Given the description of an element on the screen output the (x, y) to click on. 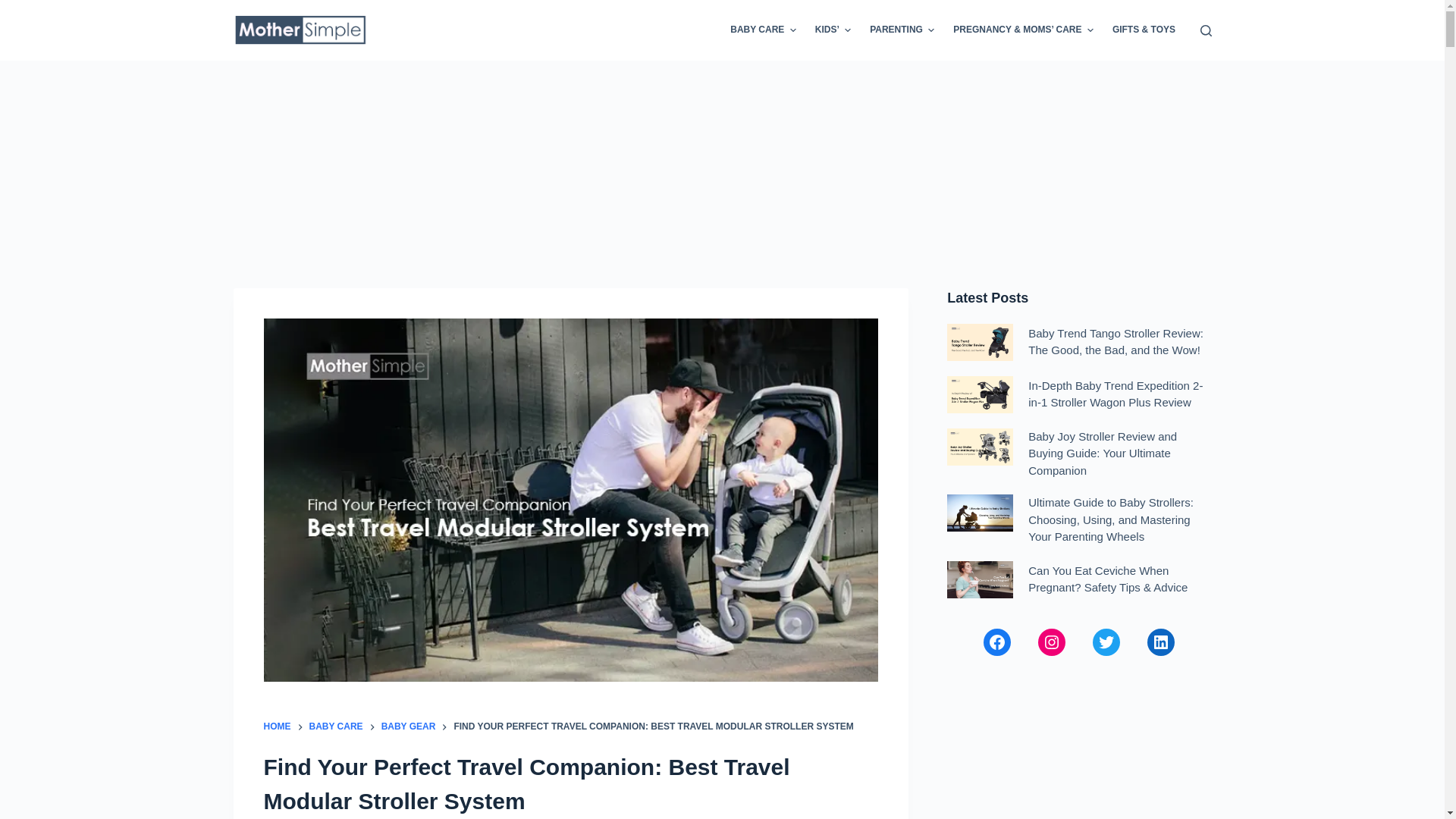
Advertisement (1079, 752)
Skip to content (15, 7)
BABY CARE (763, 30)
